Given the description of an element on the screen output the (x, y) to click on. 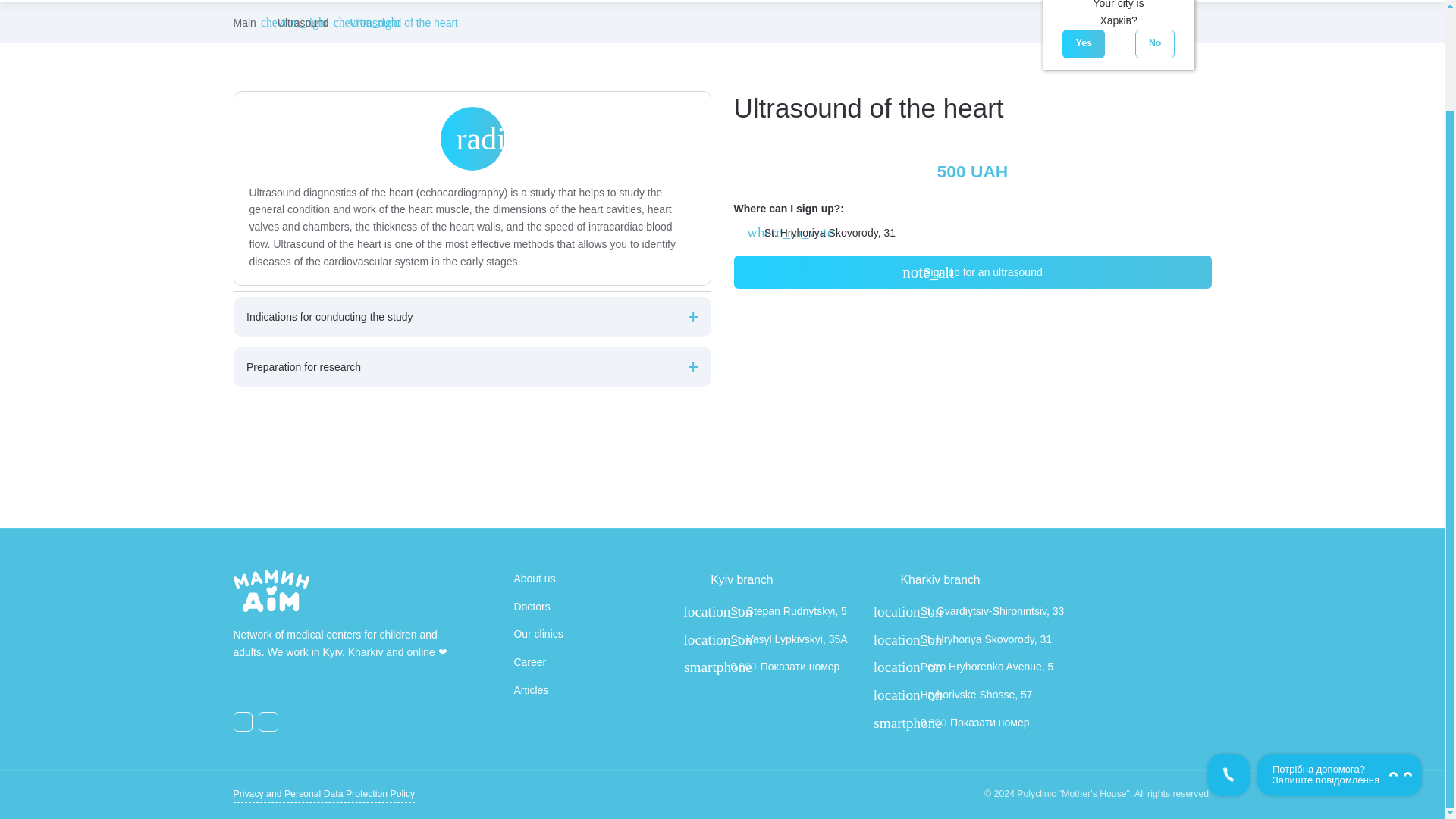
Instagram (268, 721)
Ultrasound (303, 22)
Facebook (241, 721)
Main (244, 22)
Ultrasound of the heart (404, 22)
